Given the description of an element on the screen output the (x, y) to click on. 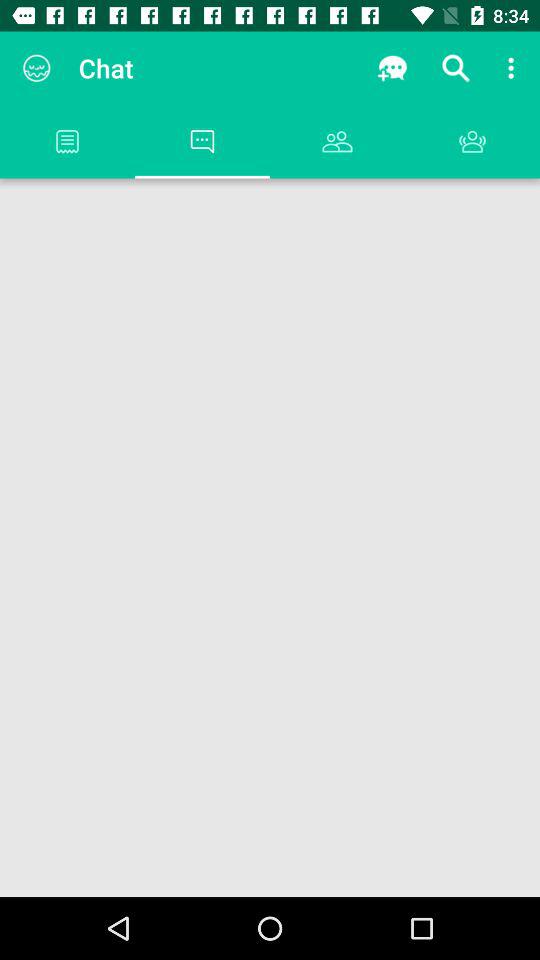
turn on the app to the left of the chat item (36, 68)
